Given the description of an element on the screen output the (x, y) to click on. 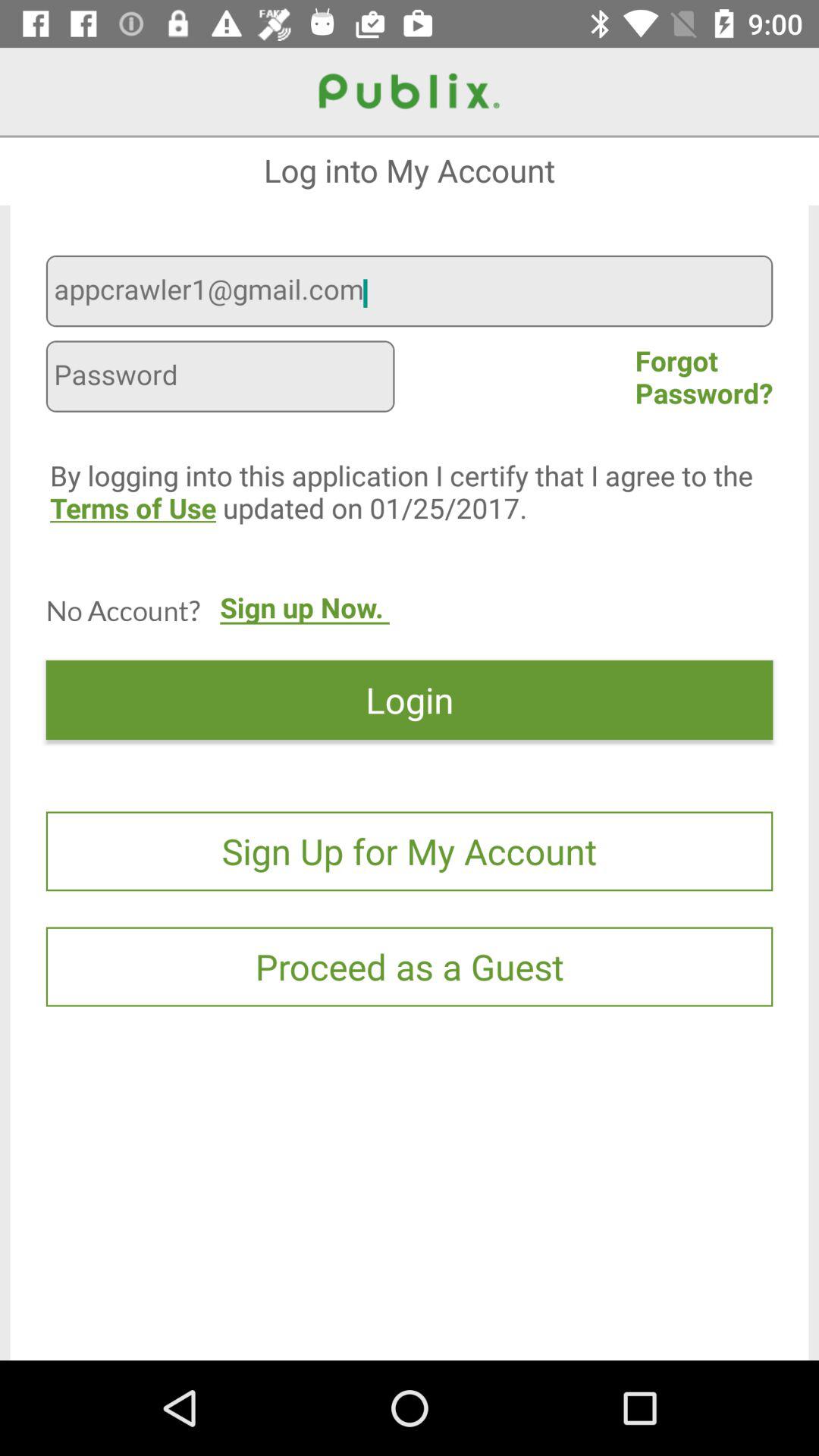
select the icon below no account? item (409, 699)
